Given the description of an element on the screen output the (x, y) to click on. 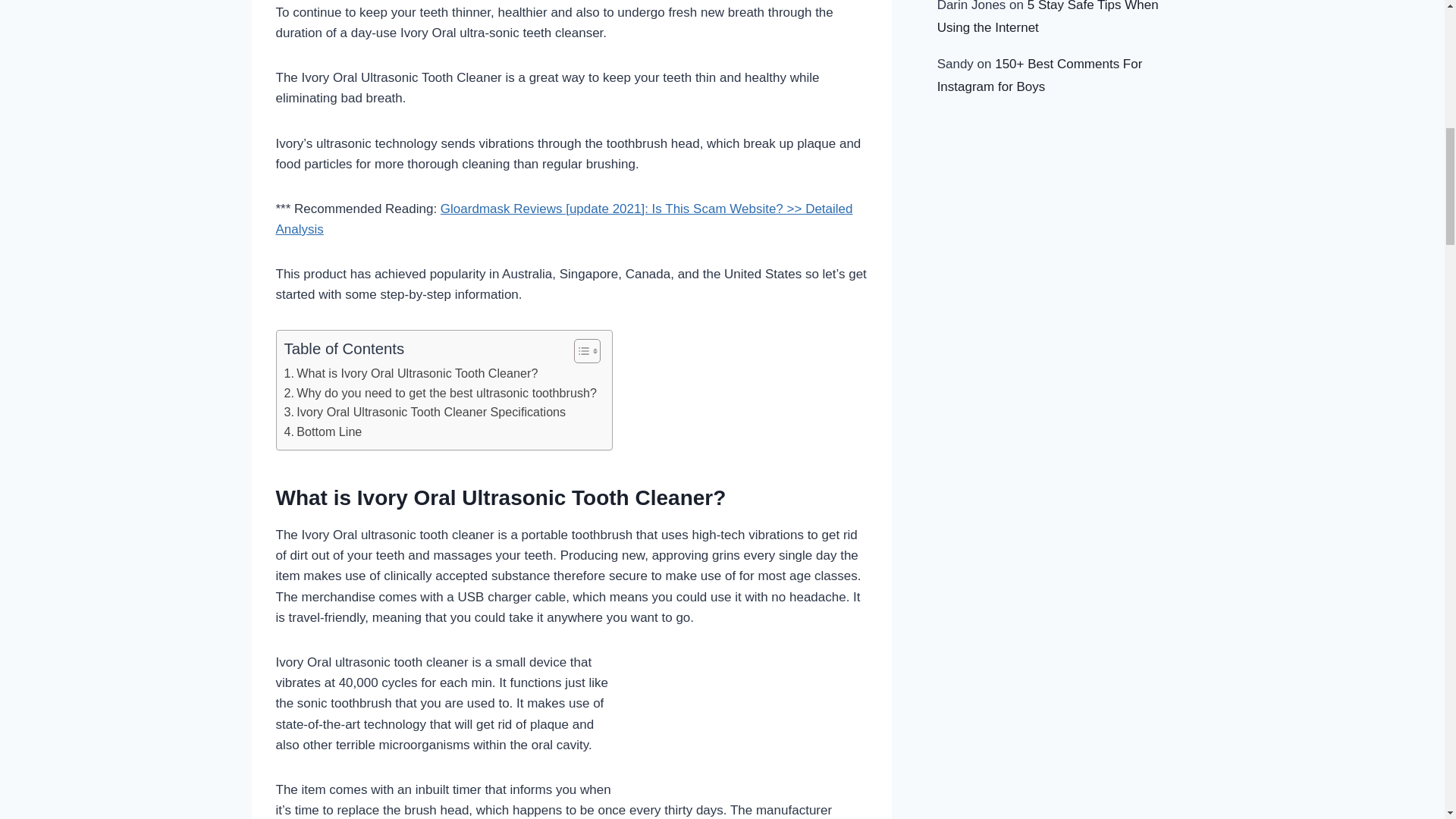
What is Ivory Oral Ultrasonic Tooth Cleaner? (410, 373)
What is Ivory Oral Ultrasonic Tooth Cleaner? (410, 373)
Why do you need to get the best ultrasonic toothbrush? (439, 393)
Why do you need to get the best ultrasonic toothbrush? (439, 393)
Bottom Line (322, 432)
Bottom Line (322, 432)
Ivory Oral Ultrasonic Tooth Cleaner Specifications (424, 412)
Ivory Oral Ultrasonic Tooth Cleaner Specifications (424, 412)
